Given the description of an element on the screen output the (x, y) to click on. 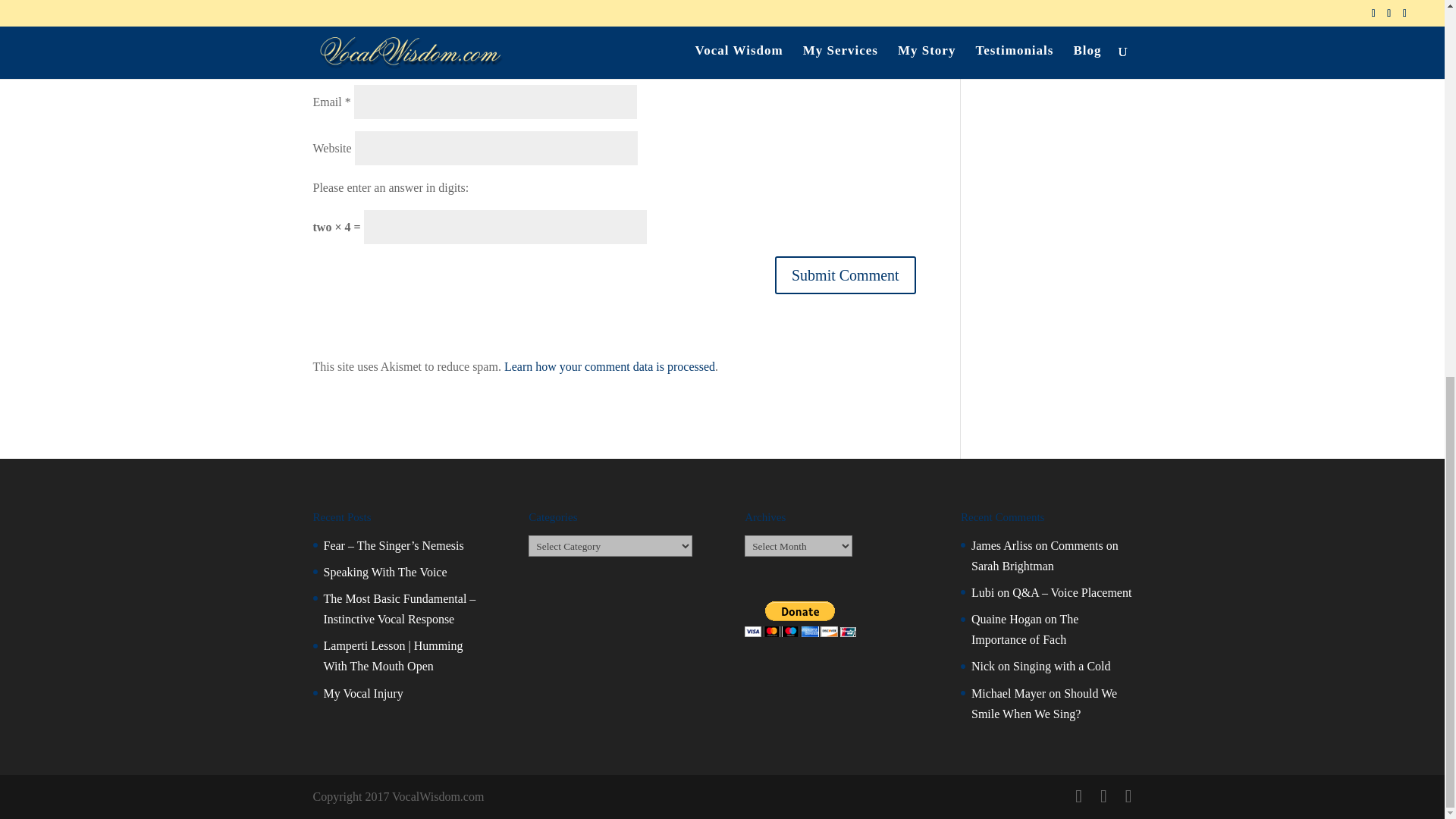
Submit Comment (844, 275)
Should We Smile When We Sing? (1043, 703)
Learn how your comment data is processed (608, 366)
Comments on Sarah Brightman (1044, 555)
The Importance of Fach (1024, 629)
Singing with a Cold (1061, 666)
My Vocal Injury (363, 693)
Submit Comment (844, 275)
Speaking With The Voice (384, 571)
Michael Mayer (1008, 693)
